Given the description of an element on the screen output the (x, y) to click on. 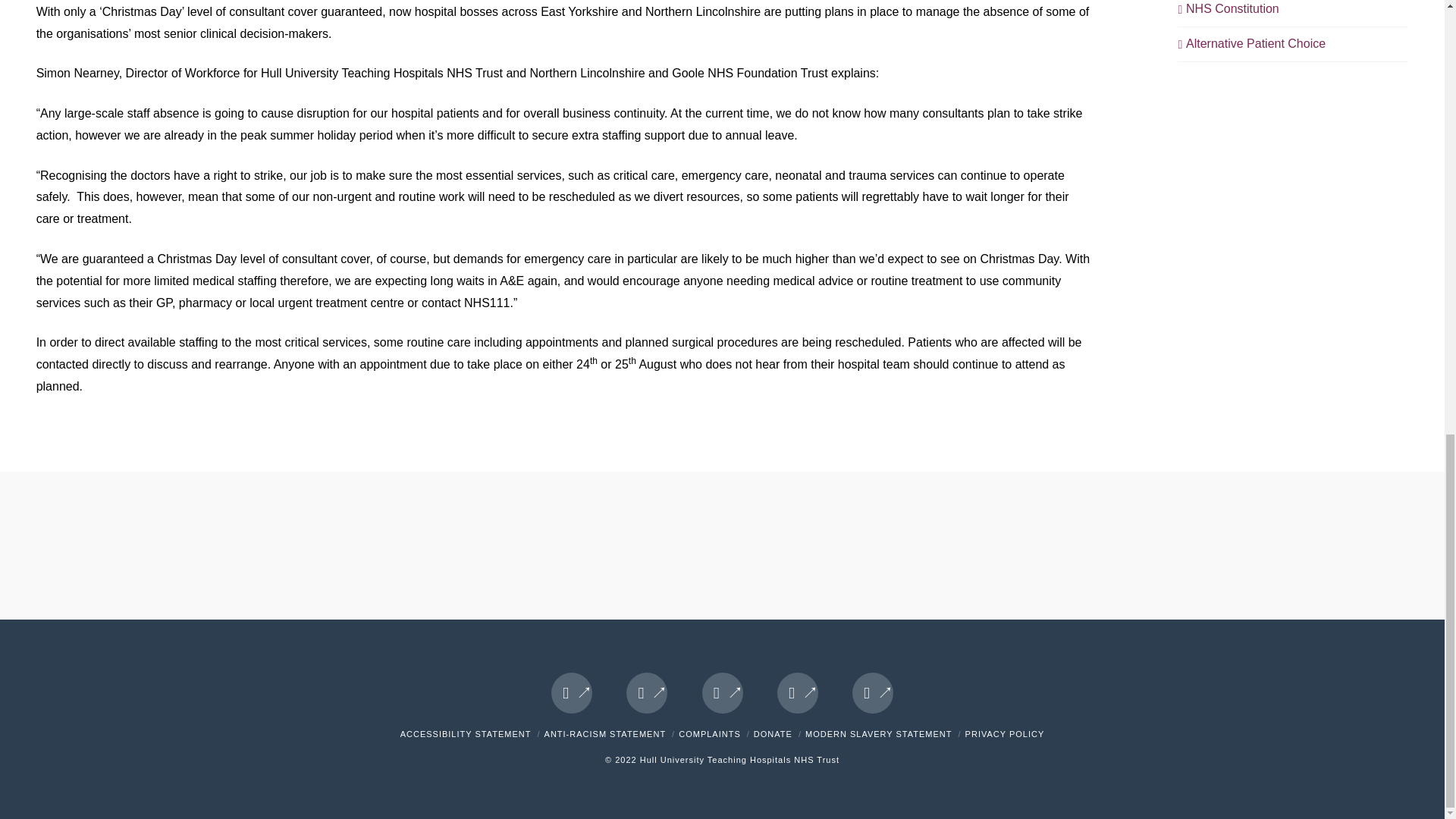
LinkedIn (721, 692)
Instagram (872, 692)
Facebook (571, 692)
YouTube (797, 692)
NHS Constitution (1227, 9)
